Given the description of an element on the screen output the (x, y) to click on. 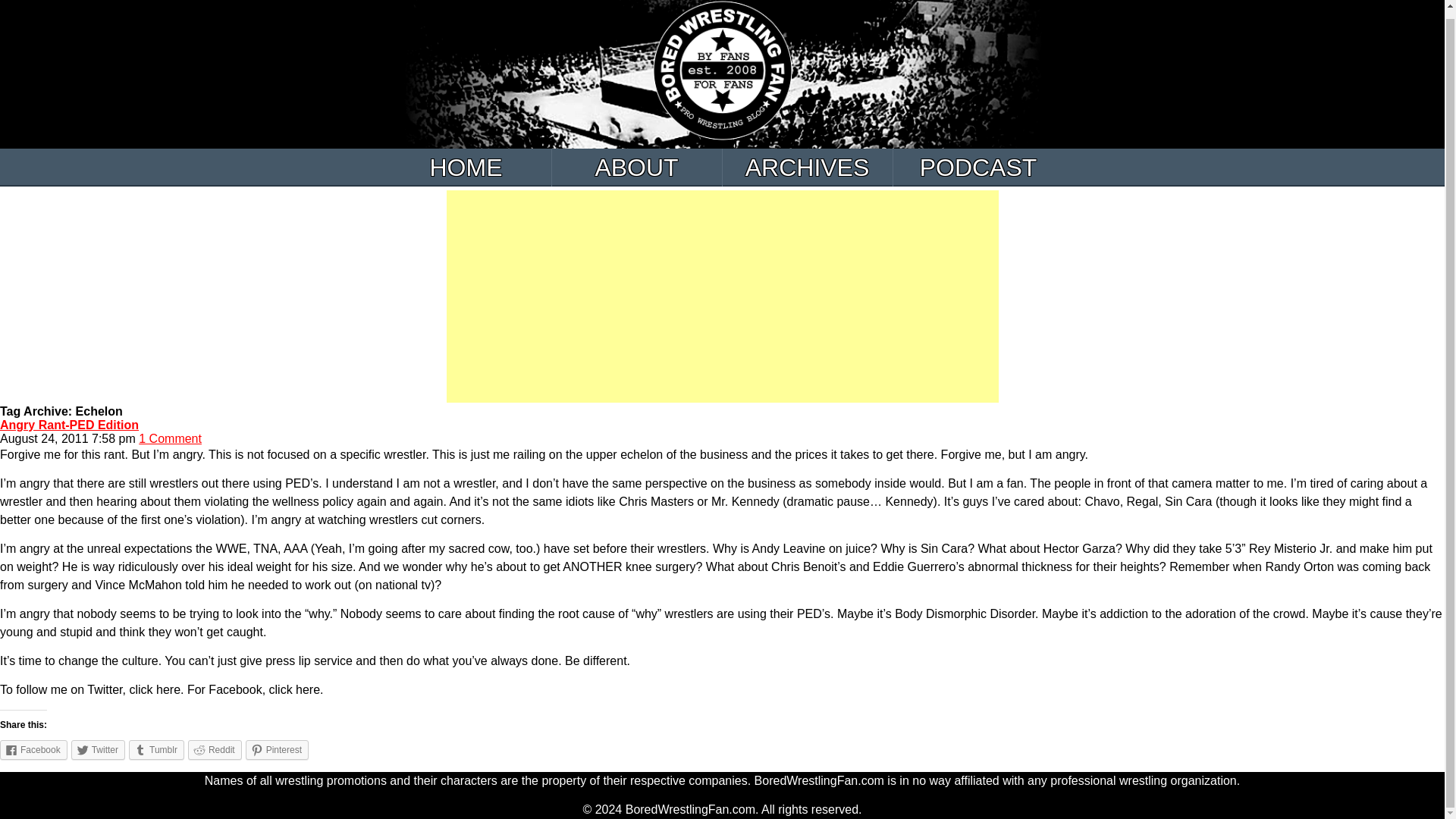
Permalink to Angry Rant-PED Edition (69, 424)
Pinterest (277, 750)
Click to share on Facebook (33, 750)
Click to share on Reddit (214, 750)
Advertisement (721, 296)
Tumblr (156, 750)
1 Comment (170, 438)
ABOUT (636, 167)
PODCAST (978, 167)
Twitter (98, 750)
Click to share on Twitter (98, 750)
Click to share on Pinterest (277, 750)
Archives (807, 167)
Podcast (978, 167)
Angry Rant-PED Edition (69, 424)
